Given the description of an element on the screen output the (x, y) to click on. 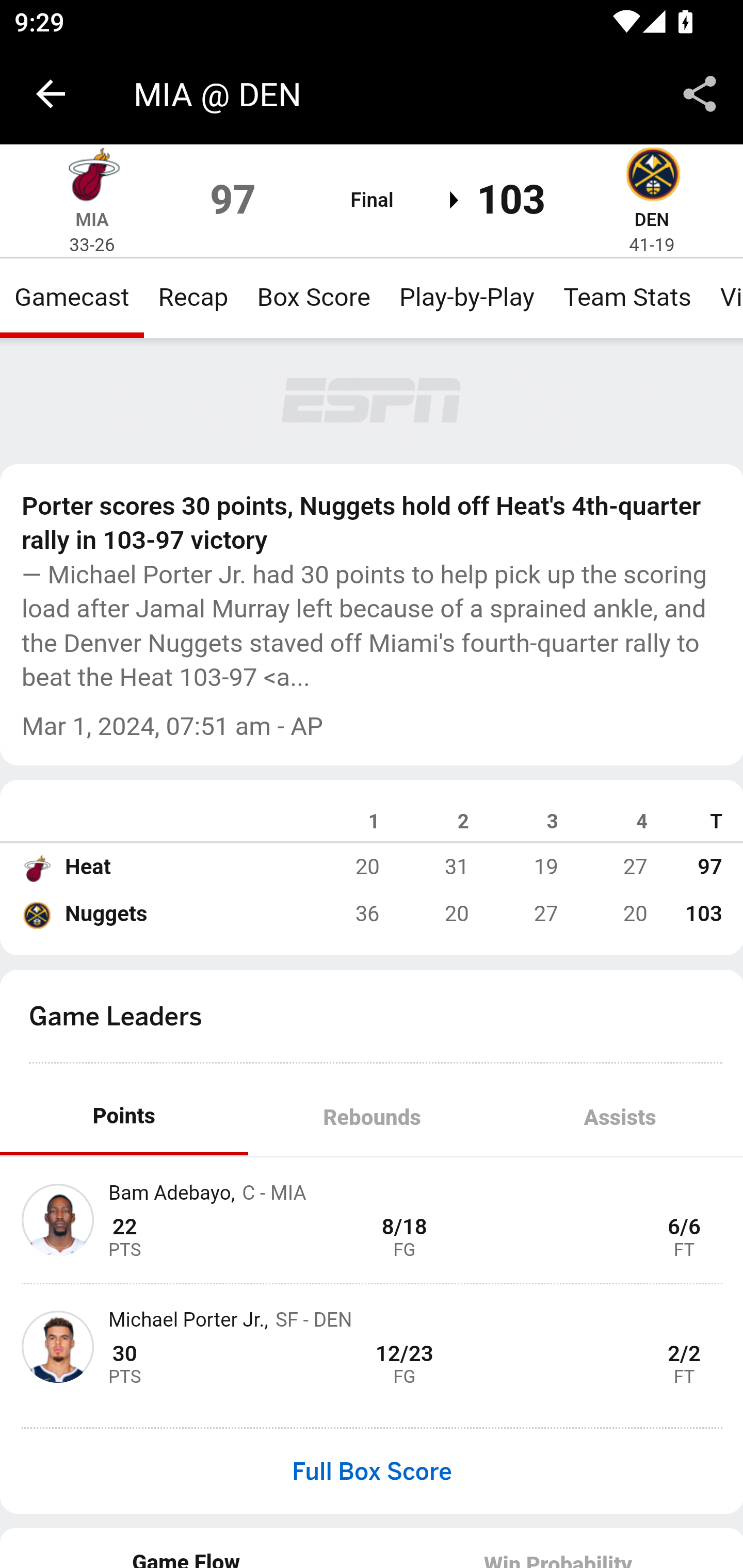
Navigate up (50, 93)
Share (699, 93)
Miami Heat (91, 177)
Denver Nuggets (651, 177)
MIA (91, 219)
DEN (651, 219)
Gamecast (72, 296)
Recap (192, 296)
Box Score (314, 296)
Play-by-Play (466, 296)
Team Stats (627, 296)
Advertisement (372, 401)
Miami Heat (36, 866)
Denver Nuggets (36, 913)
Points (124, 1116)
Rebounds (371, 1116)
Assists (618, 1116)
Full Box Score (371, 1471)
Game Flow (186, 1547)
Win Probability (557, 1547)
